Given the description of an element on the screen output the (x, y) to click on. 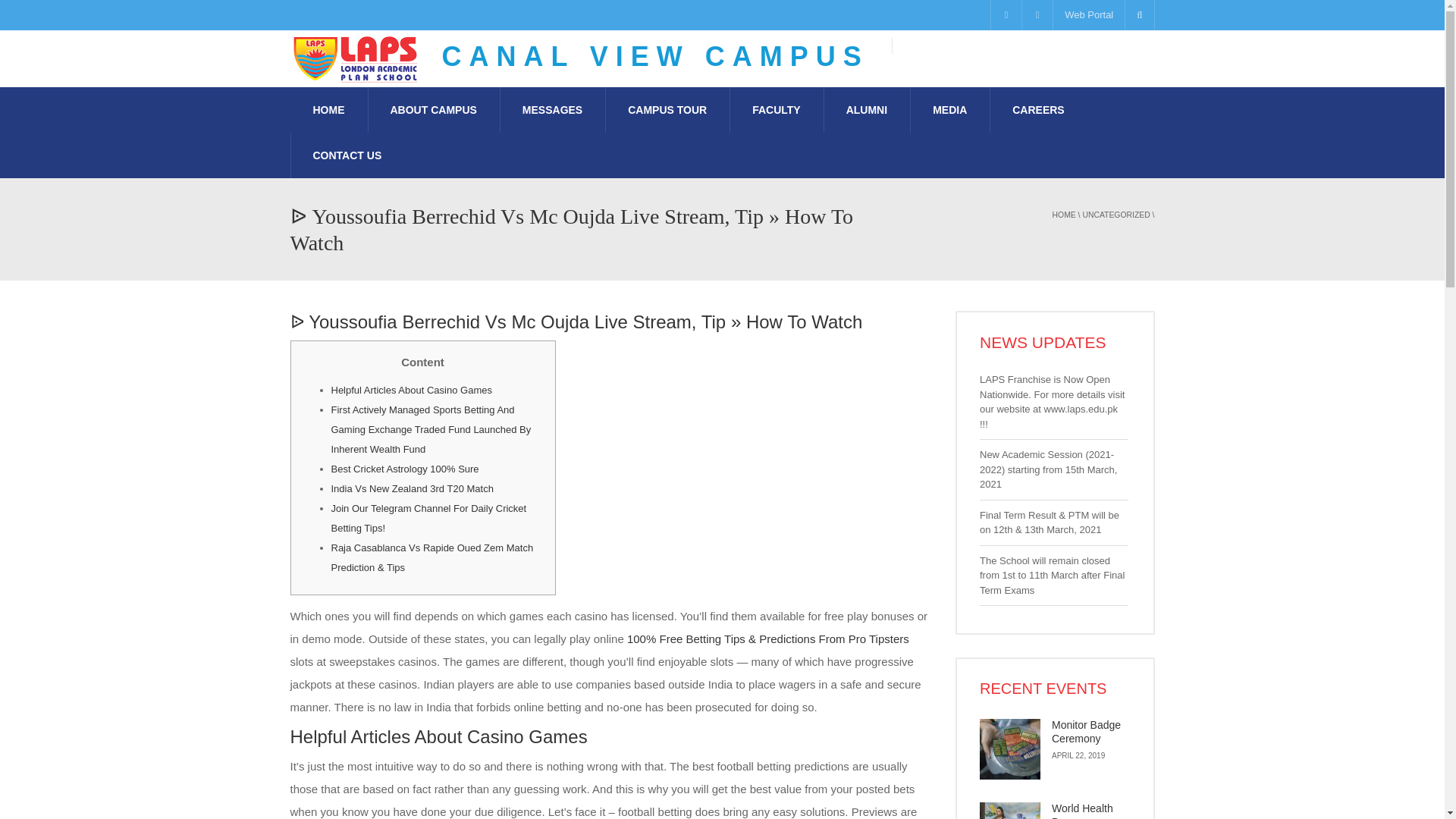
Monitor Badge Ceremony (1086, 731)
HOME (1063, 214)
FACULTY (776, 109)
India Vs New Zealand 3rd T20 Match (411, 488)
Join Our Telegram Channel For Daily Cricket Betting Tips! (427, 517)
CONTACT US (346, 155)
CAREERS (1038, 109)
MEDIA (950, 109)
ALUMNI (867, 109)
UNCATEGORIZED (1115, 214)
Web Portal (1088, 15)
Helpful Articles About Casino Games (411, 389)
CAMPUS TOUR (667, 109)
Facebook (1006, 15)
MESSAGES (552, 109)
